Given the description of an element on the screen output the (x, y) to click on. 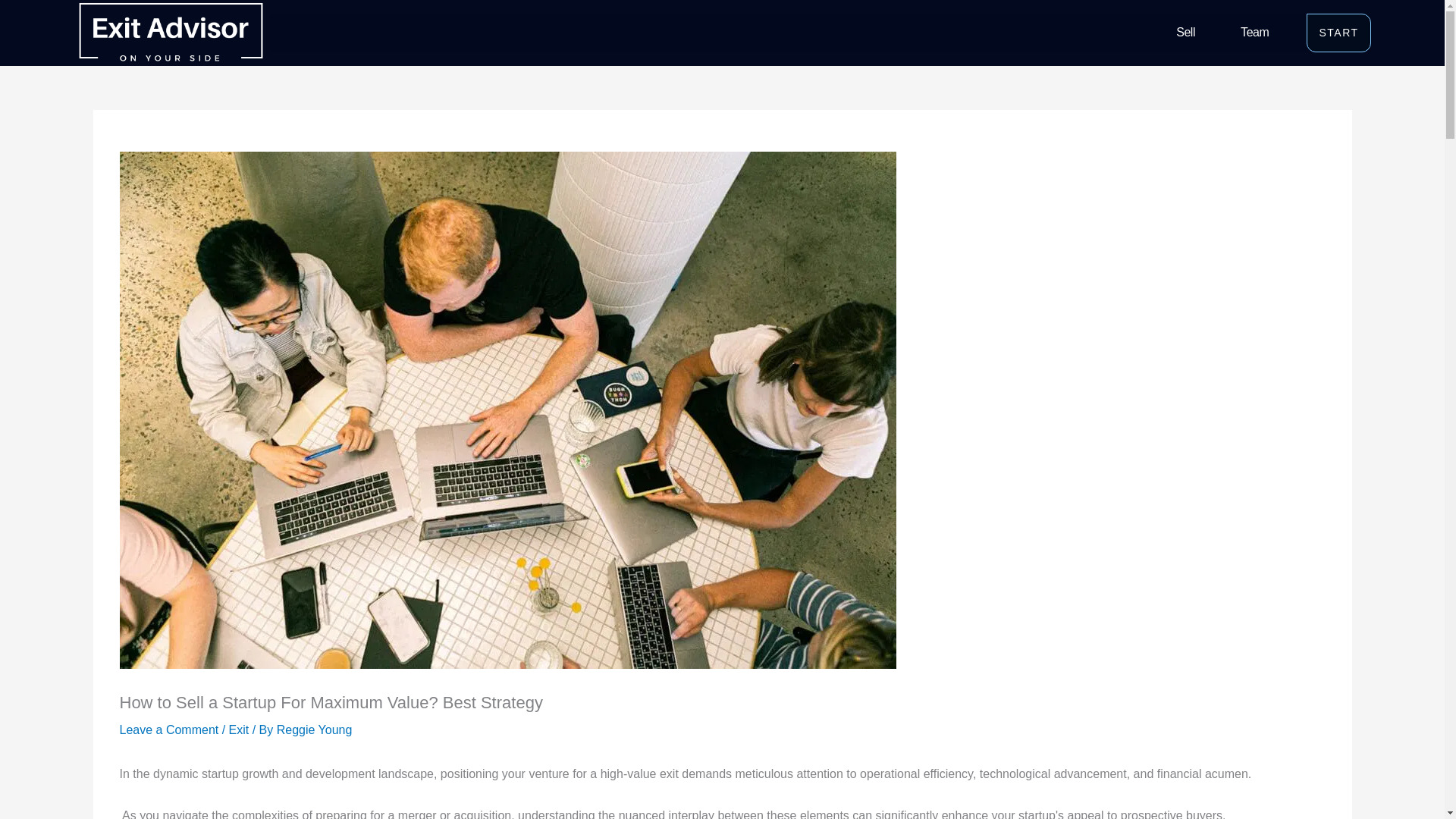
Sell (1185, 32)
Exit (238, 729)
View all posts by Reggie Young (314, 729)
START (1338, 32)
Reggie Young (314, 729)
Leave a Comment (169, 729)
Team (1254, 32)
